Given the description of an element on the screen output the (x, y) to click on. 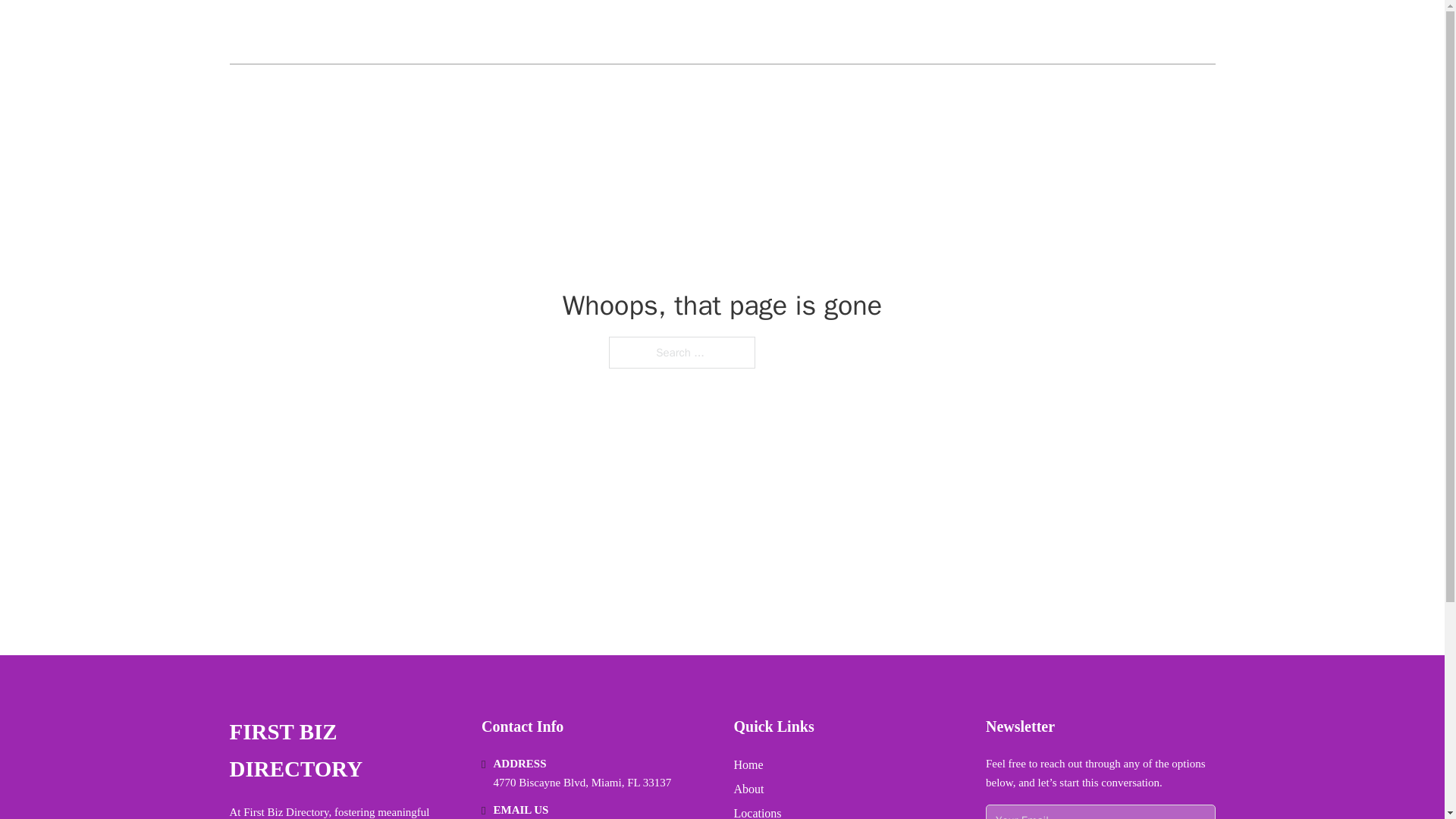
Locations (757, 811)
FIRST BIZ DIRECTORY (343, 750)
Home (747, 764)
FIRST BIZ DIRECTORY (364, 31)
About (748, 788)
HOME (1032, 31)
LOCATIONS (1105, 31)
